Given the description of an element on the screen output the (x, y) to click on. 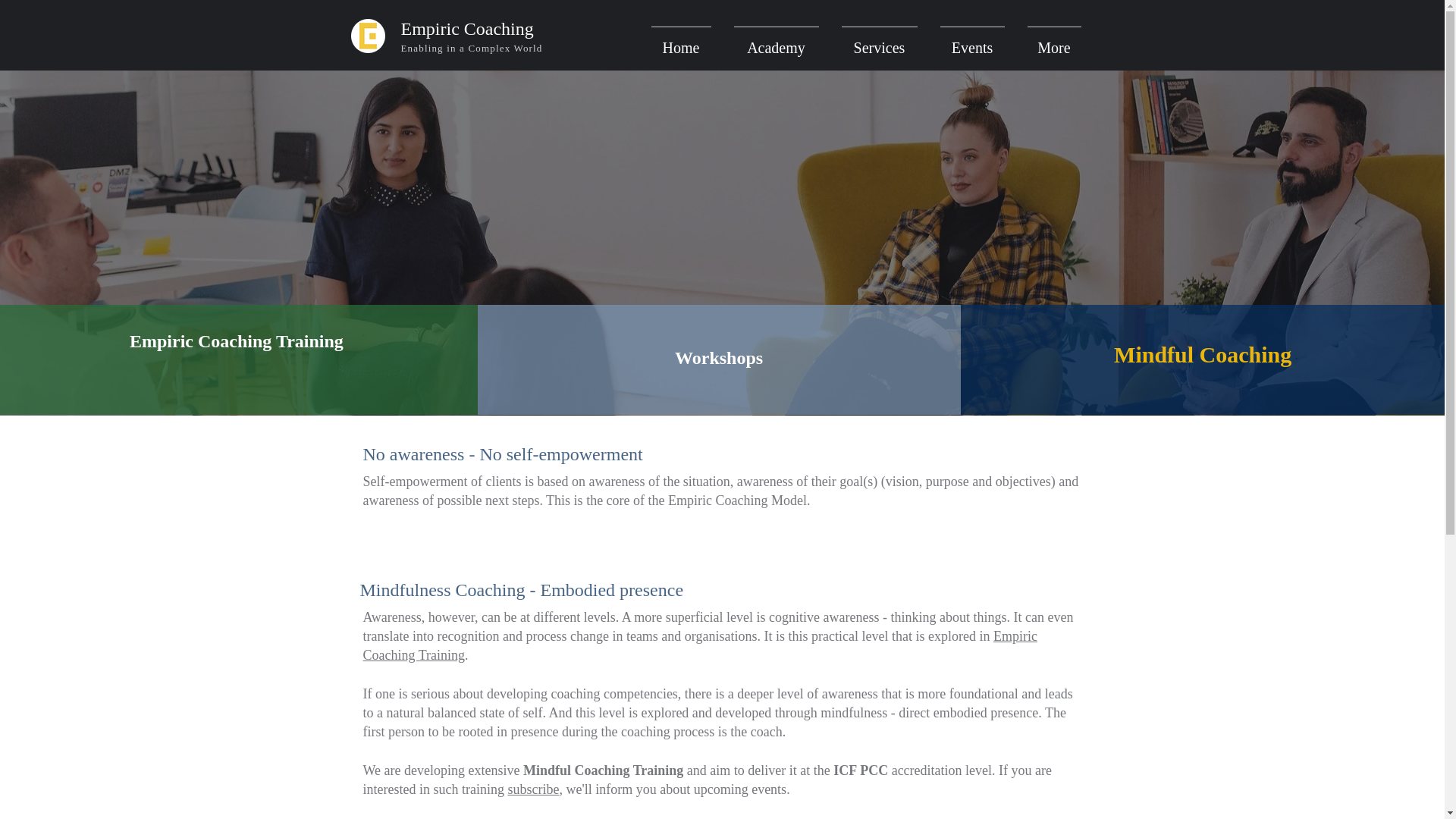
Empiric Coaching Training  (238, 341)
Events (971, 40)
Empiric Coaching Training (699, 645)
Workshops (718, 357)
Home (681, 40)
Services (878, 40)
subscribe (532, 789)
